Given the description of an element on the screen output the (x, y) to click on. 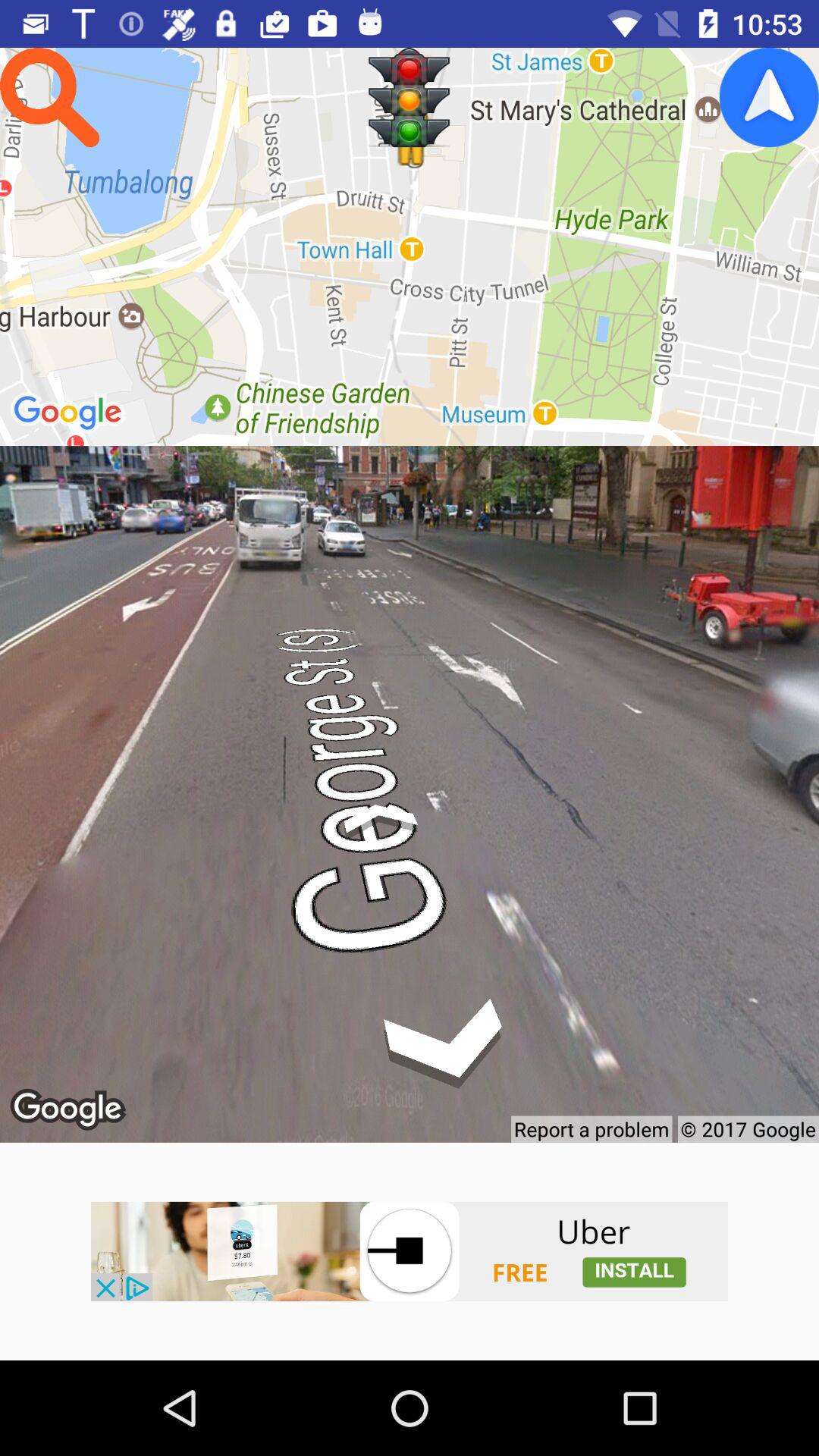
search (49, 97)
